Given the description of an element on the screen output the (x, y) to click on. 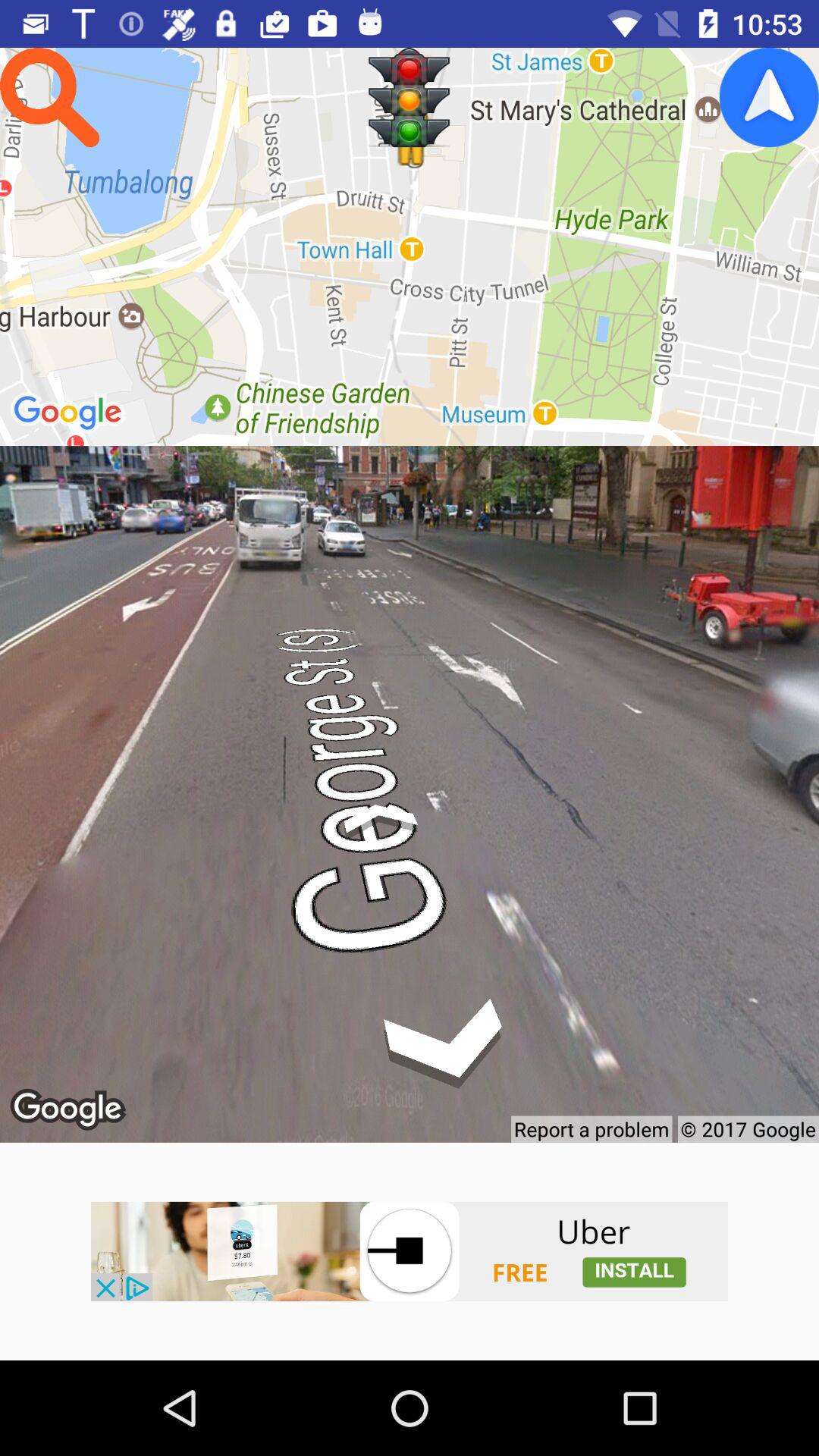
search (49, 97)
